Given the description of an element on the screen output the (x, y) to click on. 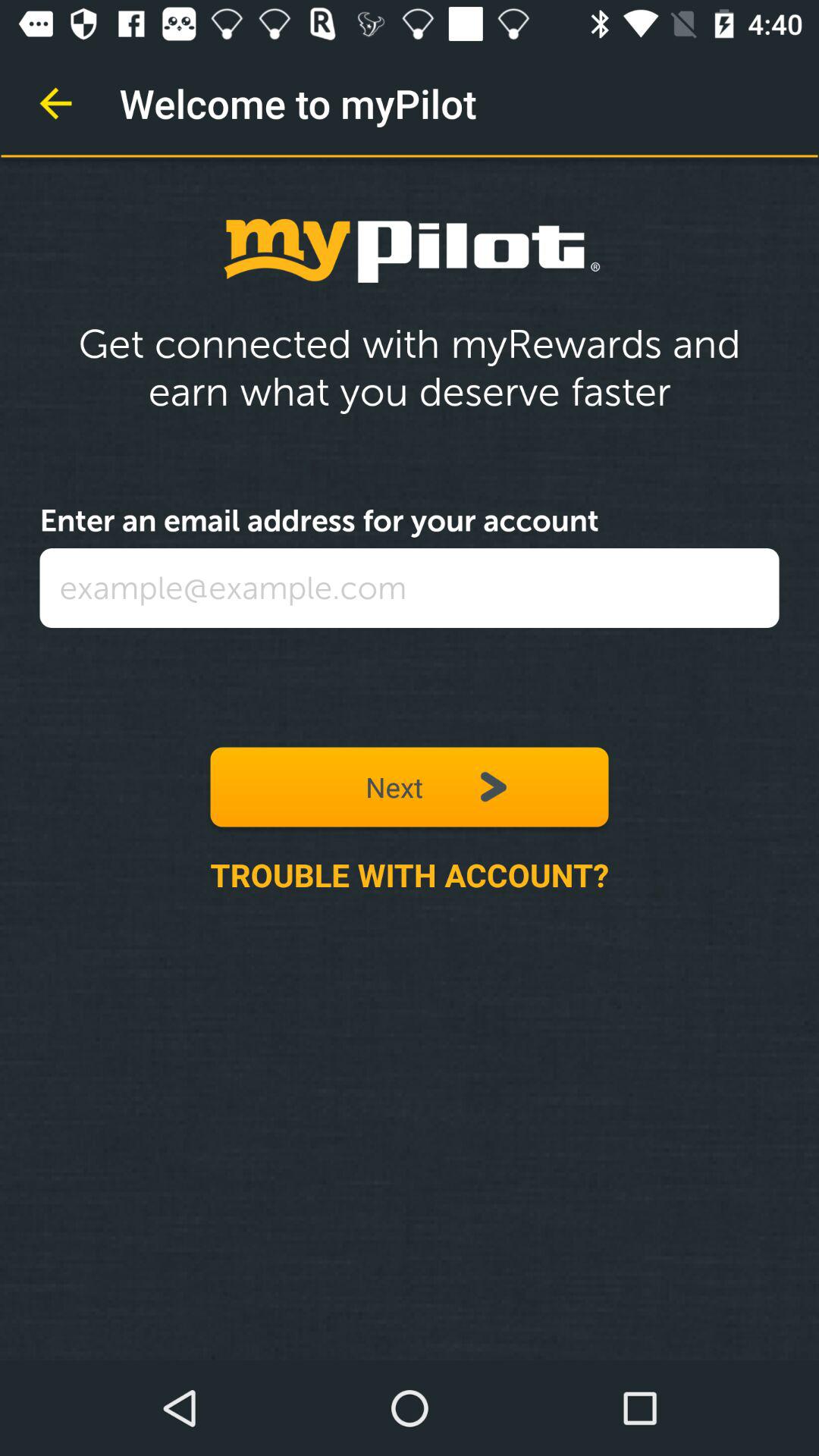
turn off icon above trouble with account? icon (409, 786)
